Given the description of an element on the screen output the (x, y) to click on. 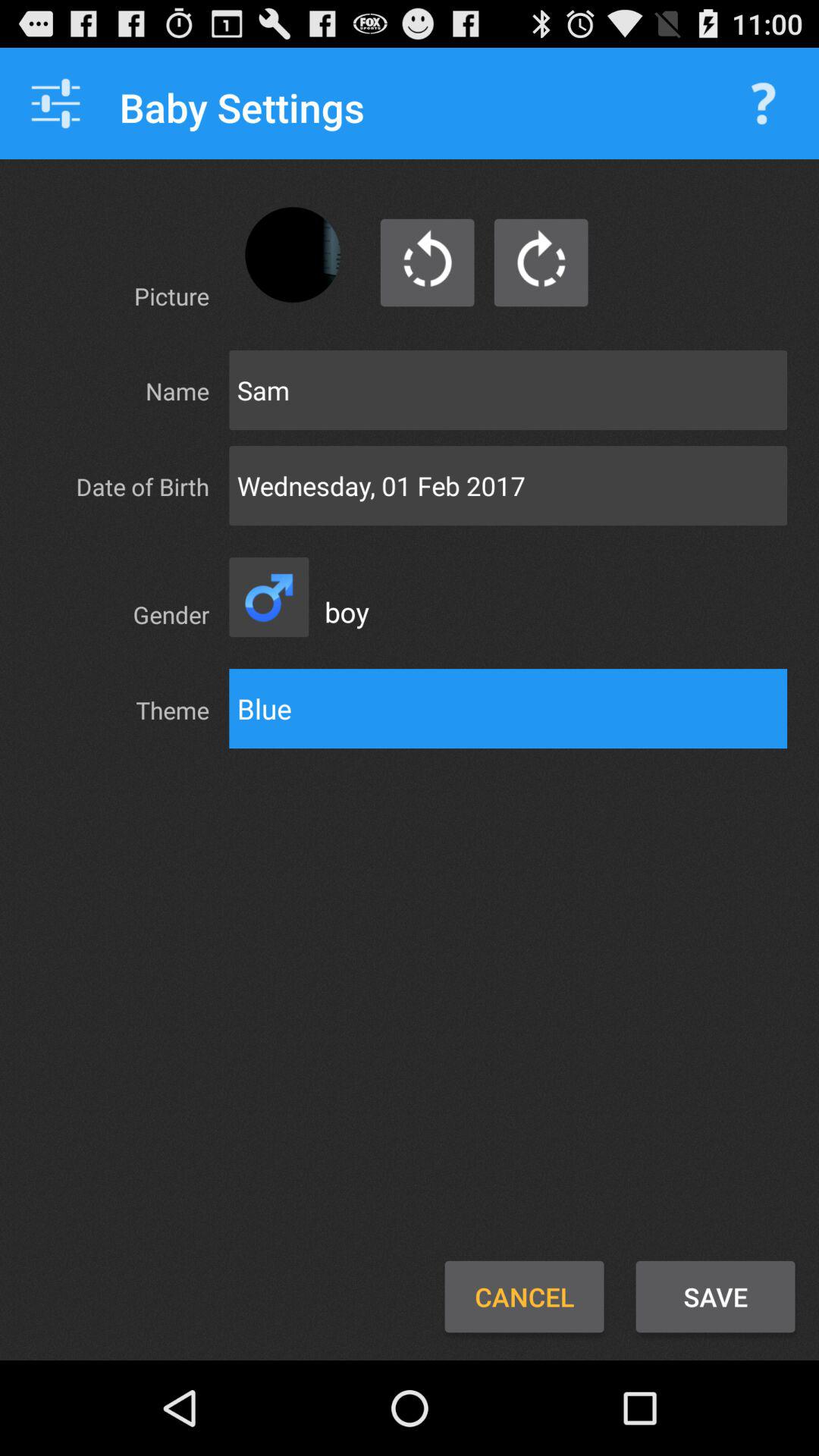
change picture (292, 254)
